Given the description of an element on the screen output the (x, y) to click on. 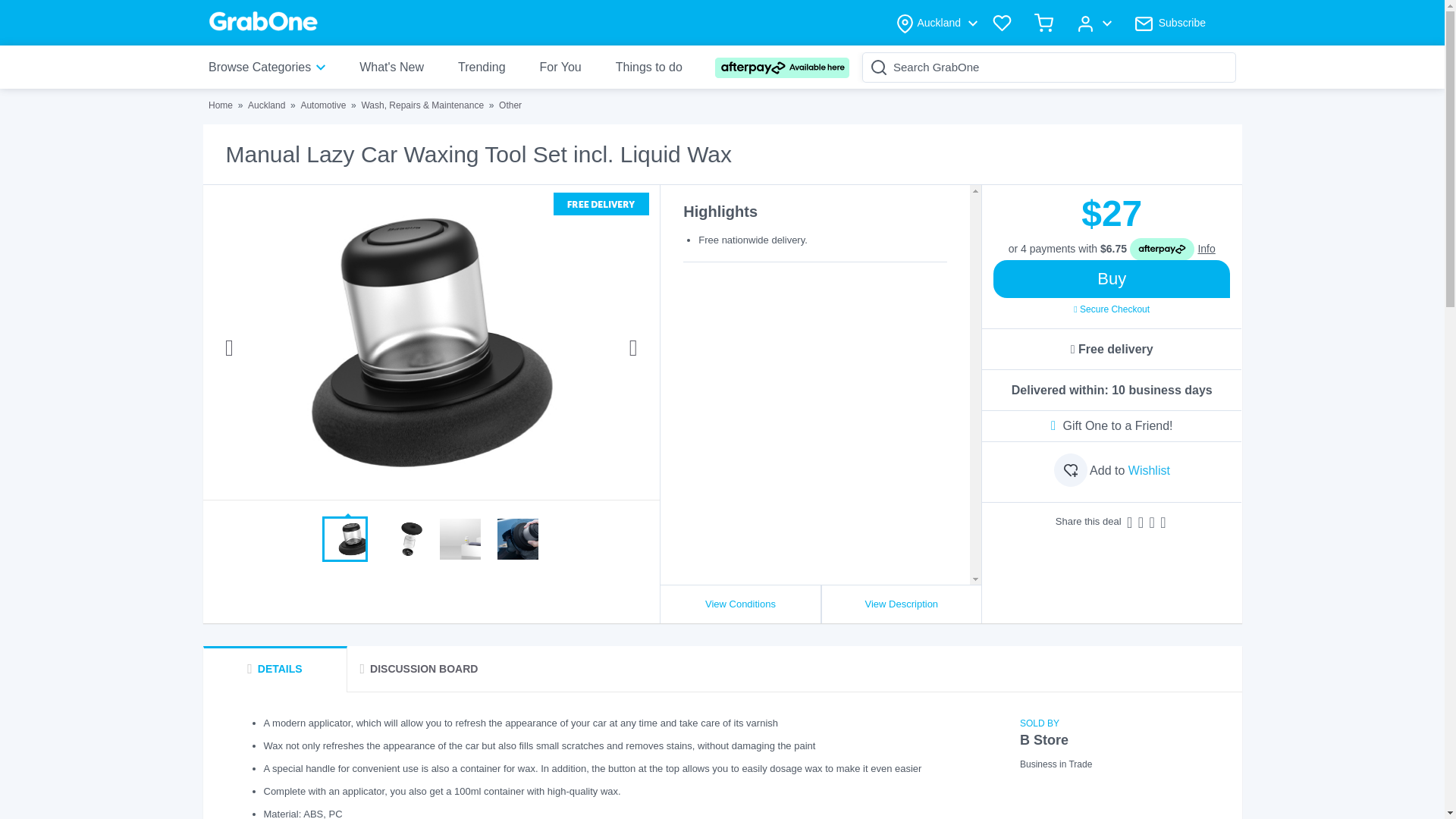
Auckland (266, 104)
Browse Categories (272, 66)
Auckland (936, 22)
Trending (481, 66)
Subscribe (1169, 22)
Things to do (649, 66)
For You (560, 66)
What's New (391, 66)
Home (220, 104)
Automotive (322, 104)
